Given the description of an element on the screen output the (x, y) to click on. 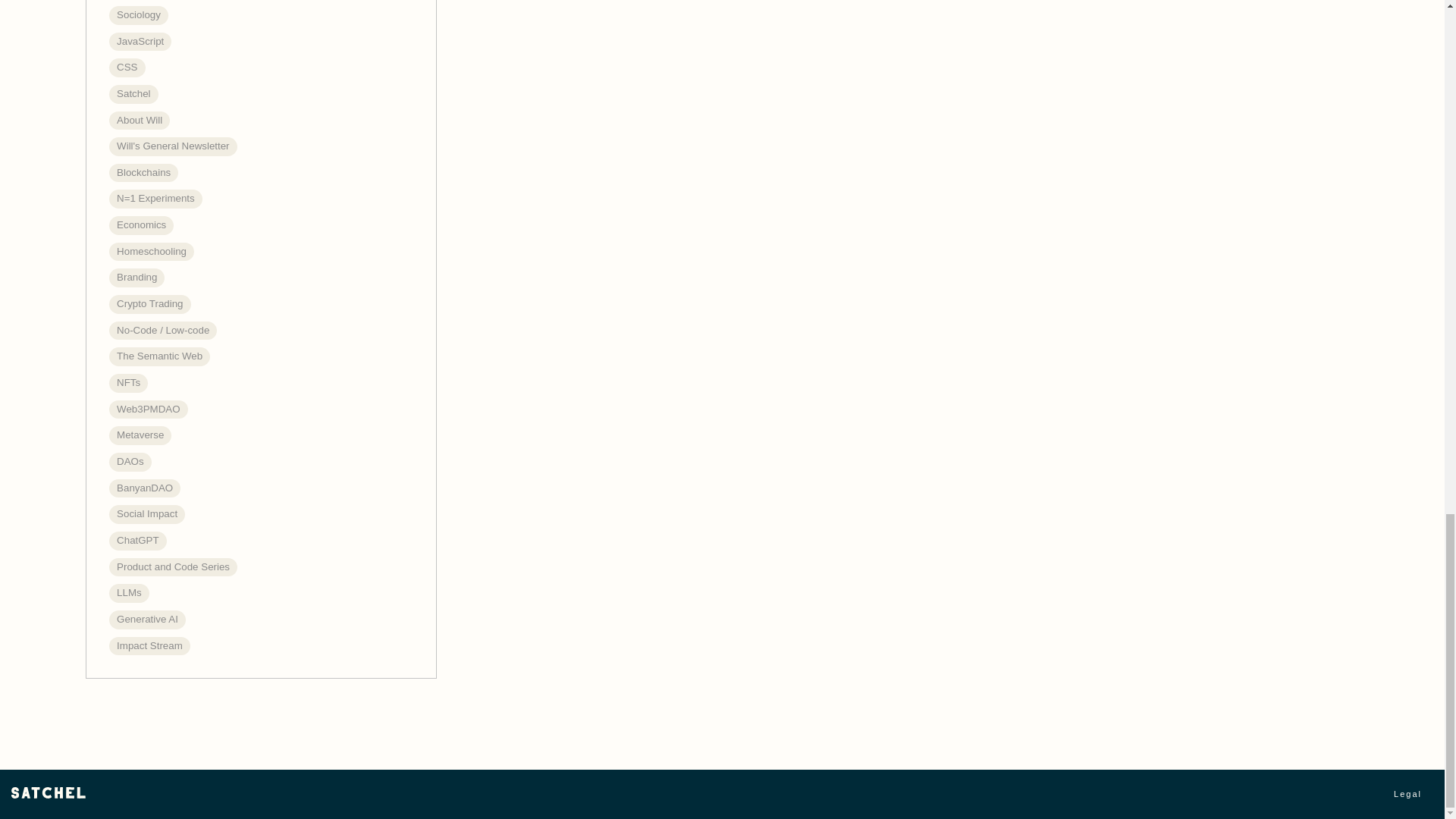
Satchel (48, 792)
